Given the description of an element on the screen output the (x, y) to click on. 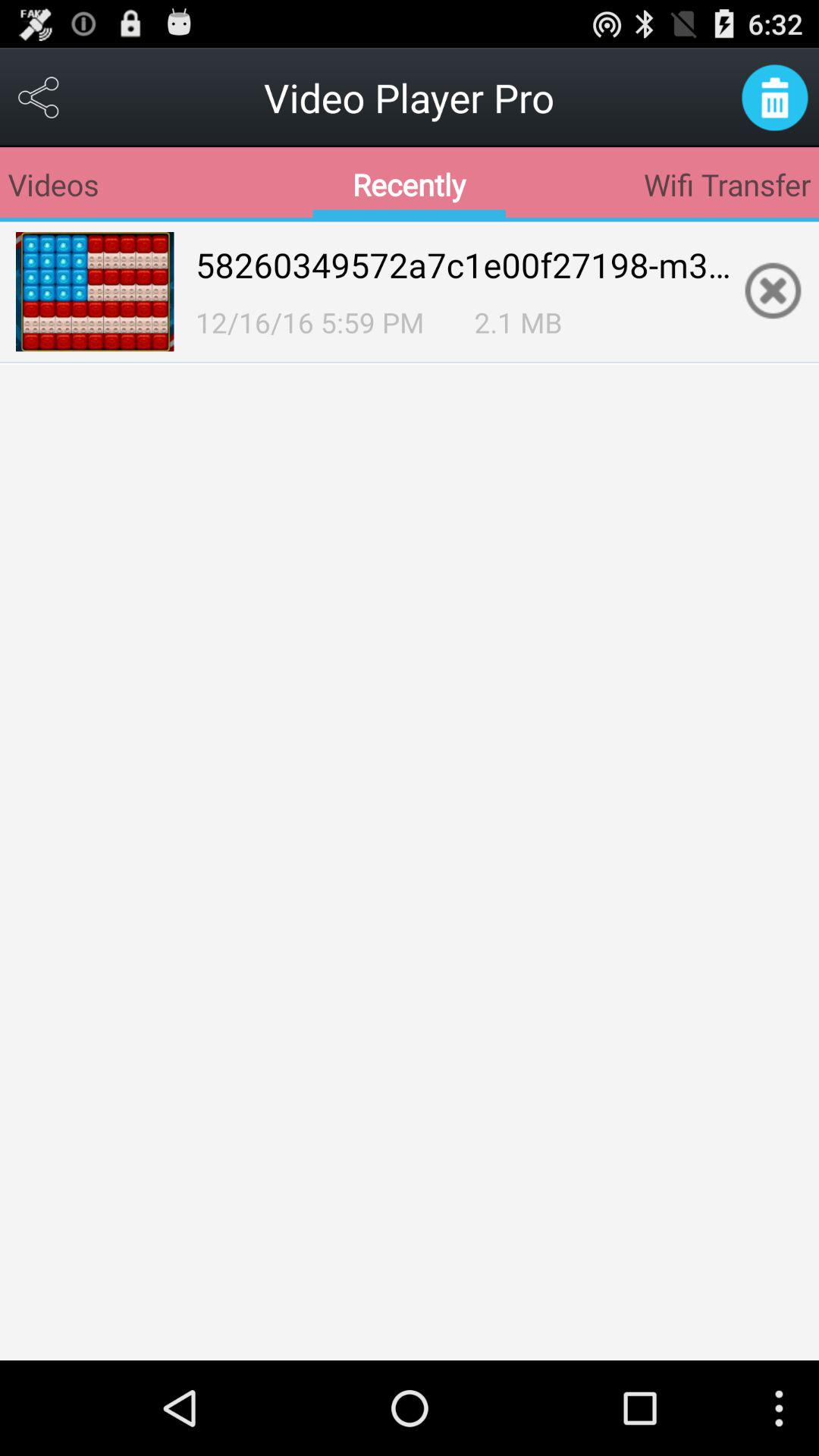
share (39, 97)
